Given the description of an element on the screen output the (x, y) to click on. 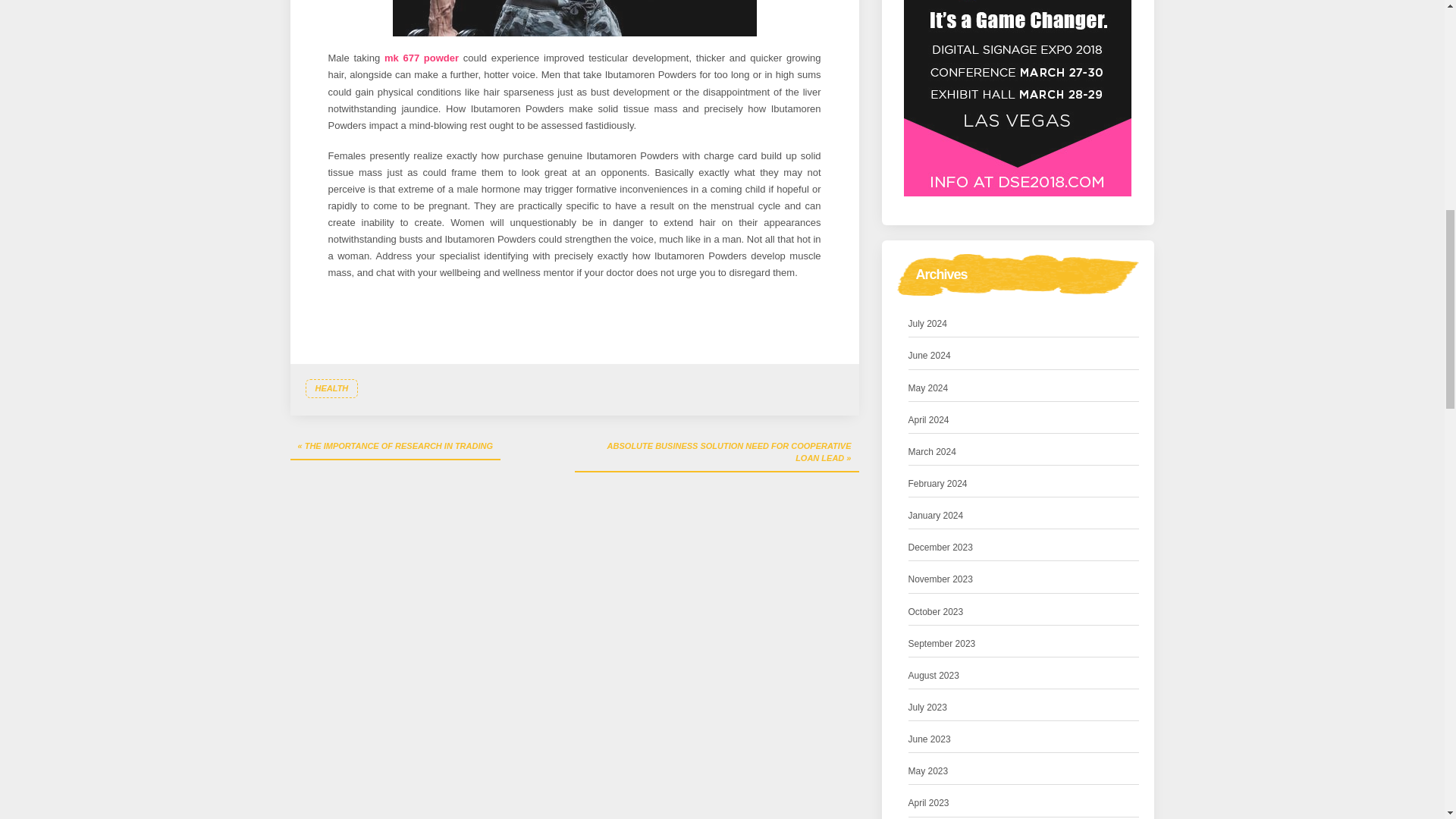
July 2024 (927, 324)
August 2023 (933, 675)
December 2023 (940, 547)
February 2024 (938, 483)
March 2024 (932, 452)
April 2024 (928, 420)
mk 677 powder (421, 57)
October 2023 (935, 611)
April 2023 (928, 803)
THE IMPORTANCE OF RESEARCH IN TRADING (394, 447)
ABSOLUTE BUSINESS SOLUTION NEED FOR COOPERATIVE LOAN LEAD (717, 452)
May 2024 (928, 388)
January 2024 (935, 515)
June 2023 (929, 739)
HEALTH (331, 388)
